Given the description of an element on the screen output the (x, y) to click on. 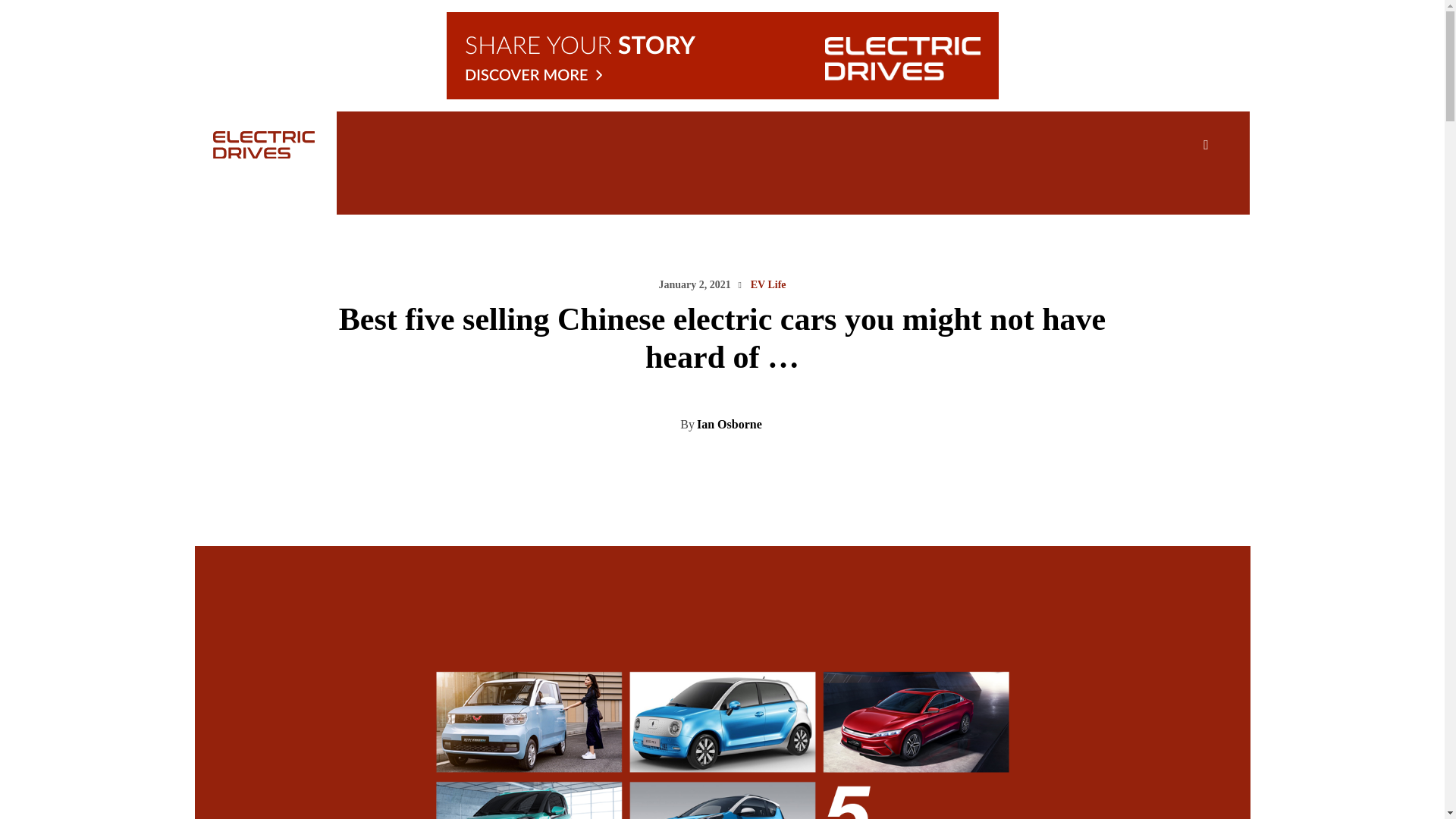
Elecctric Drives (246, 144)
